Given the description of an element on the screen output the (x, y) to click on. 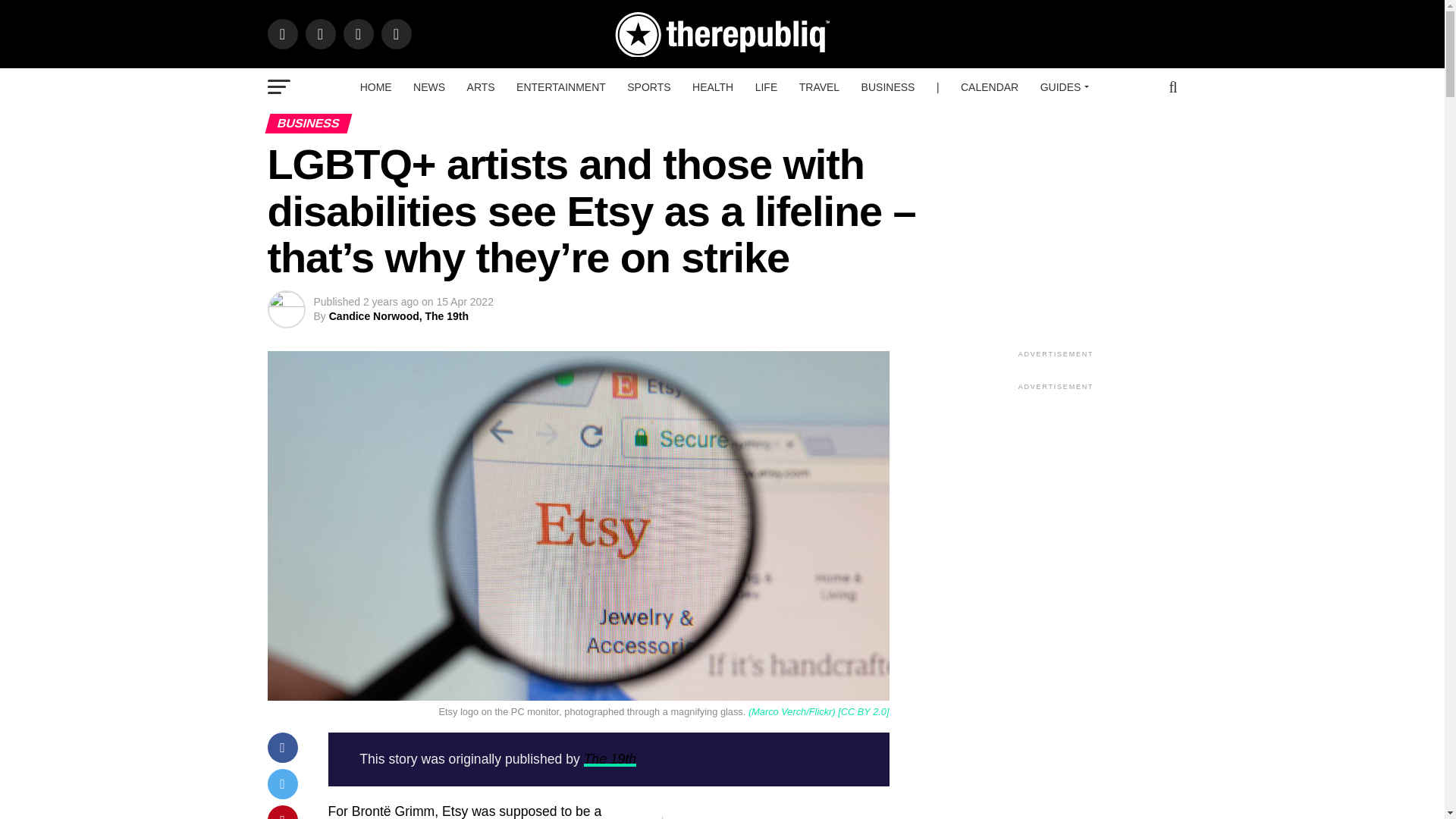
ARTS (480, 86)
HOME (375, 86)
NEWS (429, 86)
Posts by Candice Norwood, The 19th (398, 316)
